Given the description of an element on the screen output the (x, y) to click on. 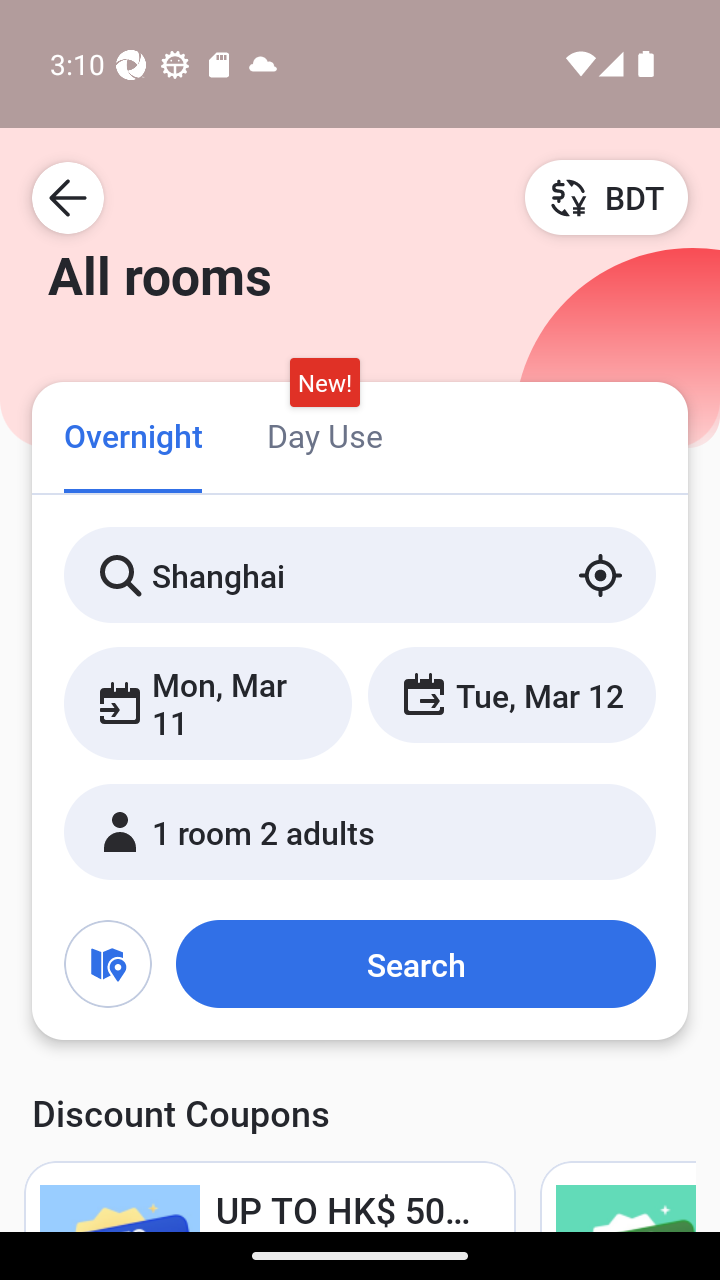
BDT (606, 197)
New! (324, 383)
Day Use (324, 434)
Shanghai (359, 575)
Mon, Mar 11 (208, 703)
Tue, Mar 12 (511, 694)
1 room 2 adults (359, 831)
Search (415, 964)
